Given the description of an element on the screen output the (x, y) to click on. 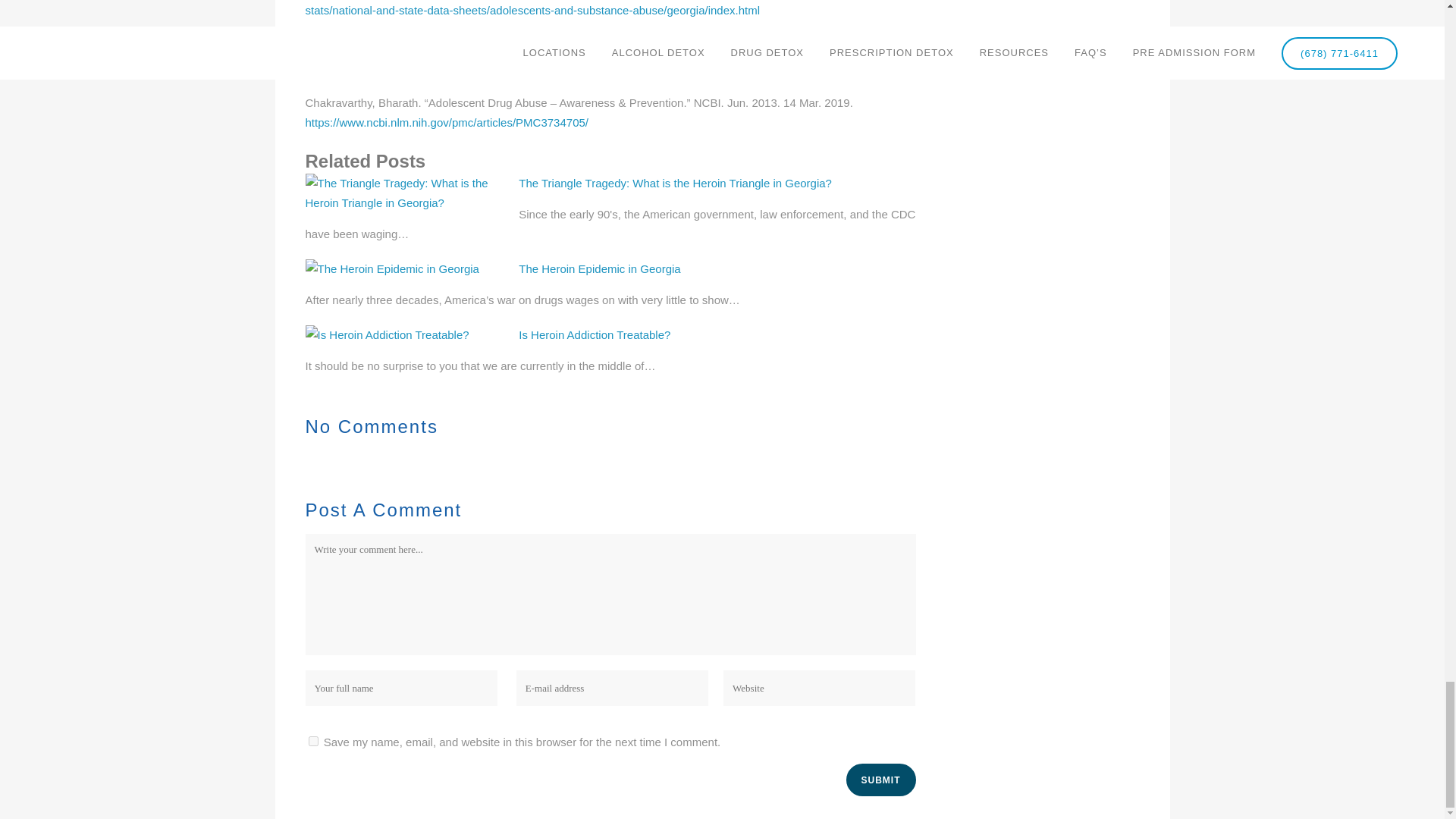
yes (312, 741)
Submit (880, 779)
